Given the description of an element on the screen output the (x, y) to click on. 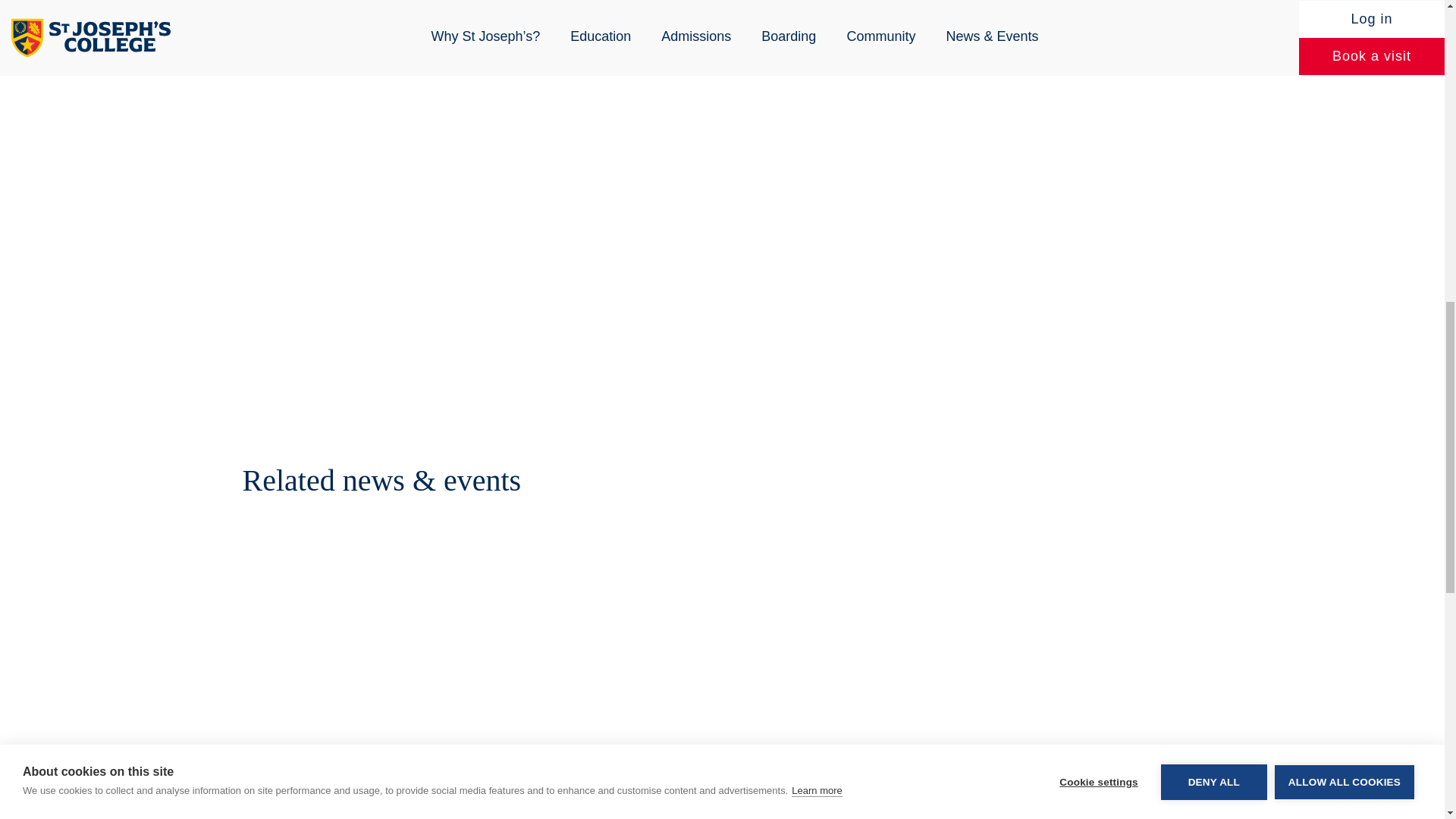
DENY ALL (1213, 6)
Cookie settings (1098, 14)
Learn more (816, 37)
